Given the description of an element on the screen output the (x, y) to click on. 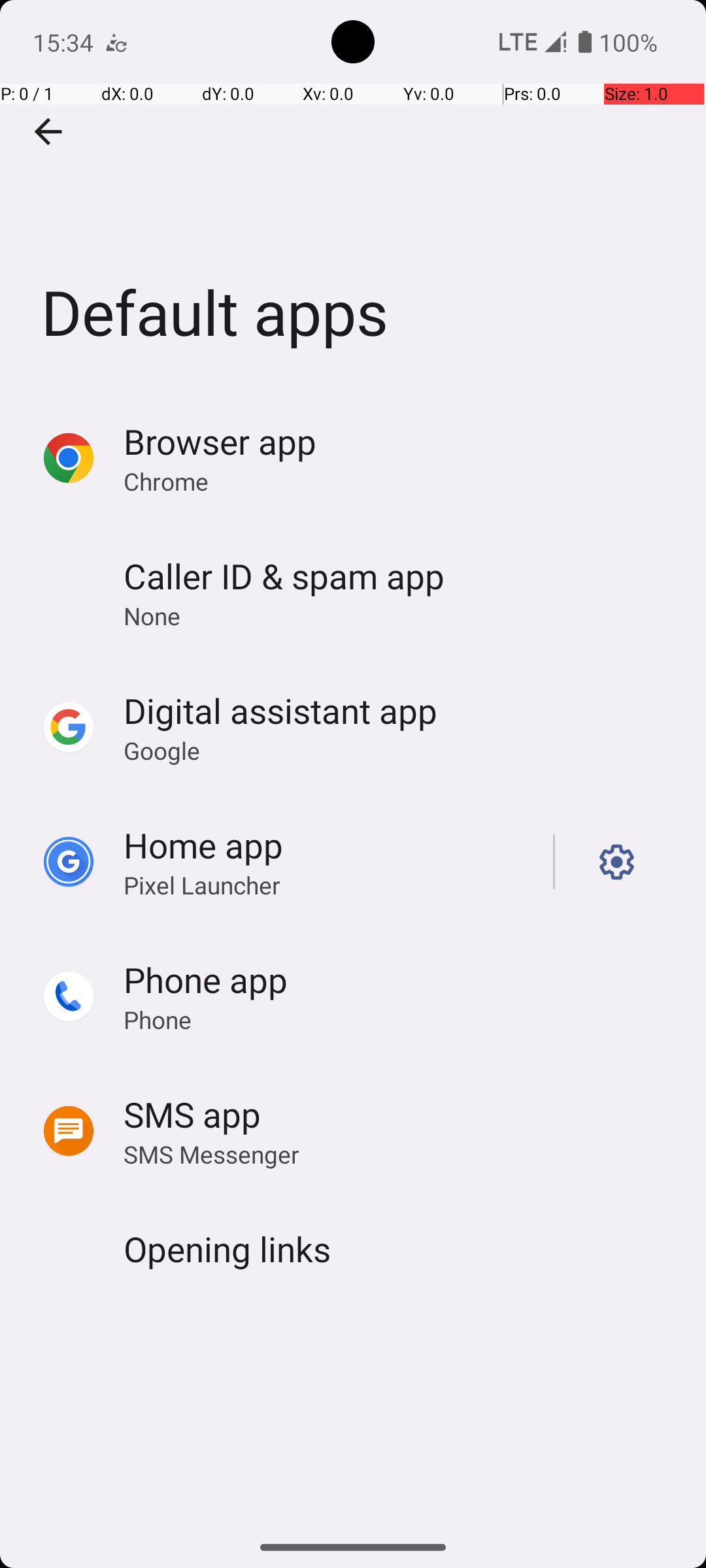
Browser app Element type: android.widget.TextView (220, 441)
Caller ID & spam app Element type: android.widget.TextView (283, 575)
Digital assistant app Element type: android.widget.TextView (280, 710)
Home app Element type: android.widget.TextView (203, 844)
Pixel Launcher Element type: android.widget.TextView (201, 884)
Phone app Element type: android.widget.TextView (205, 979)
SMS app Element type: android.widget.TextView (191, 1114)
Opening links Element type: android.widget.TextView (226, 1248)
